Given the description of an element on the screen output the (x, y) to click on. 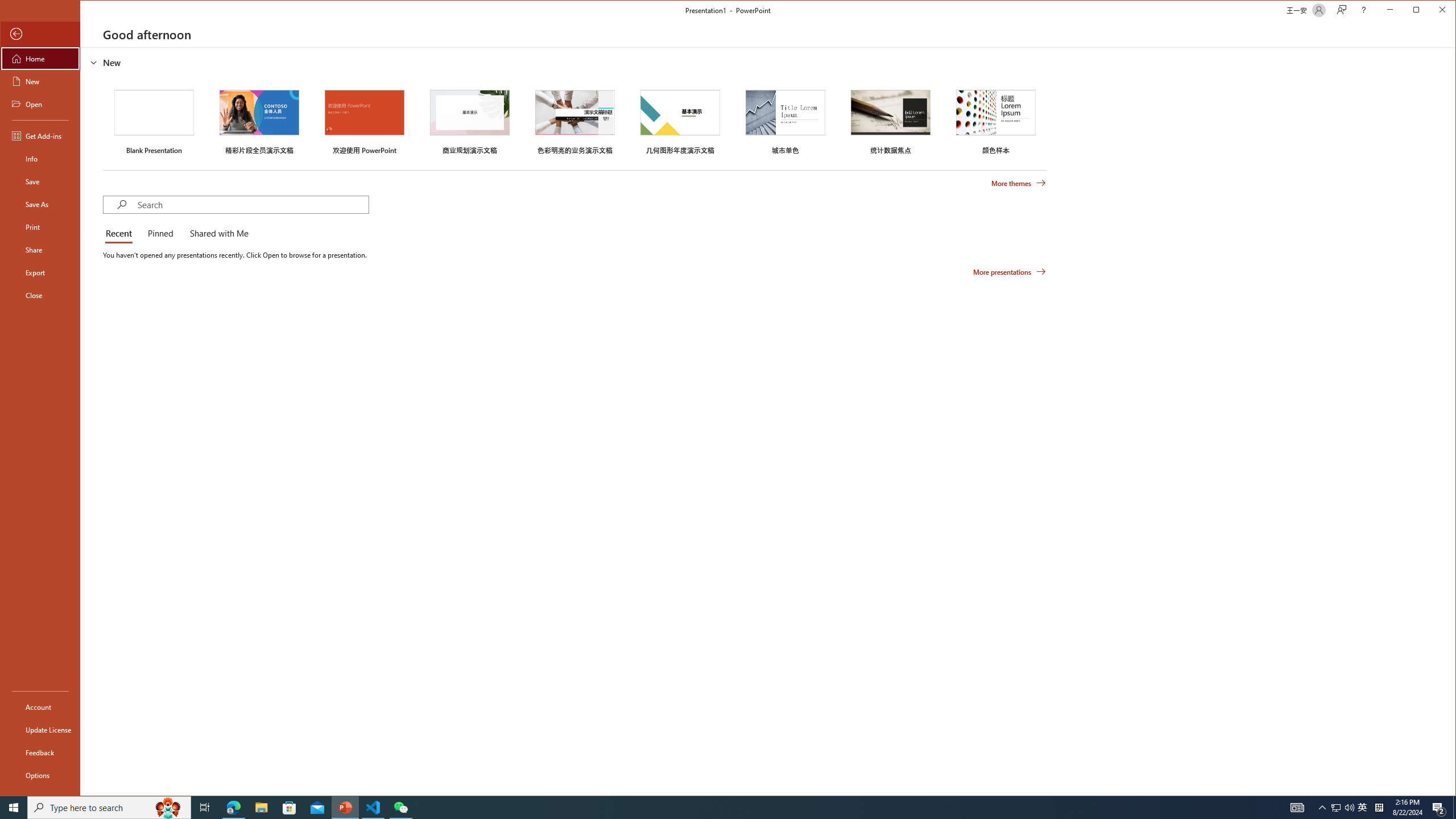
Class: NetUIScrollBar (1450, 421)
Running applications (707, 807)
More themes (1018, 183)
Recent (121, 234)
Microsoft Edge - 1 running window (233, 807)
WeChat - 1 running window (400, 807)
